Given the description of an element on the screen output the (x, y) to click on. 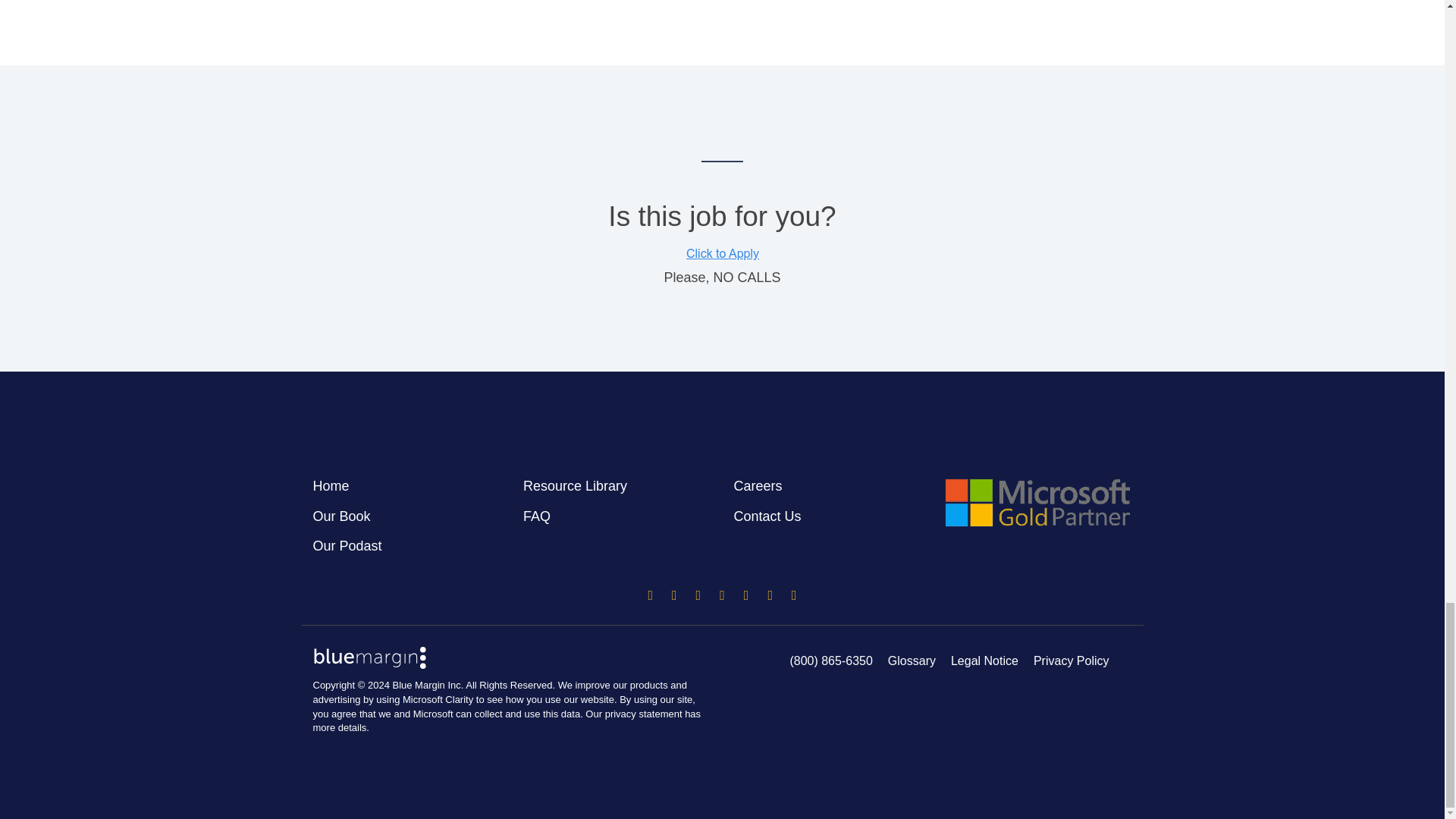
Our Podast (347, 546)
Home (331, 486)
Our Book (341, 516)
Blue Margin All White Horizontal (369, 657)
